Given the description of an element on the screen output the (x, y) to click on. 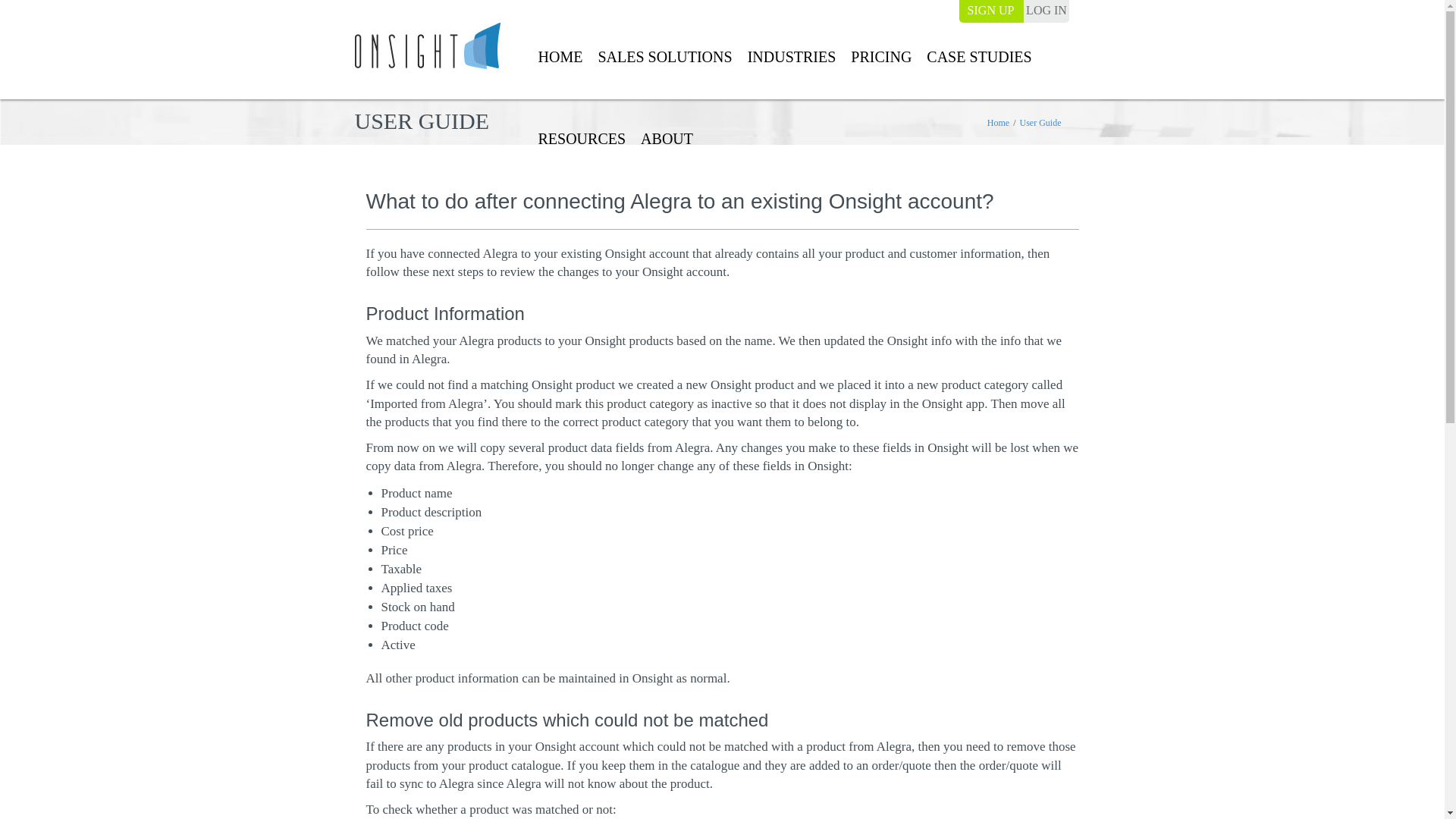
SALES SOLUTIONS (664, 57)
HOME (560, 57)
ABOUT (667, 139)
INDUSTRIES (792, 57)
LOG IN (1045, 11)
RESOURCES (581, 139)
PRICING (881, 57)
Onsight (427, 45)
CASE STUDIES (979, 57)
SIGN UP (990, 11)
